Given the description of an element on the screen output the (x, y) to click on. 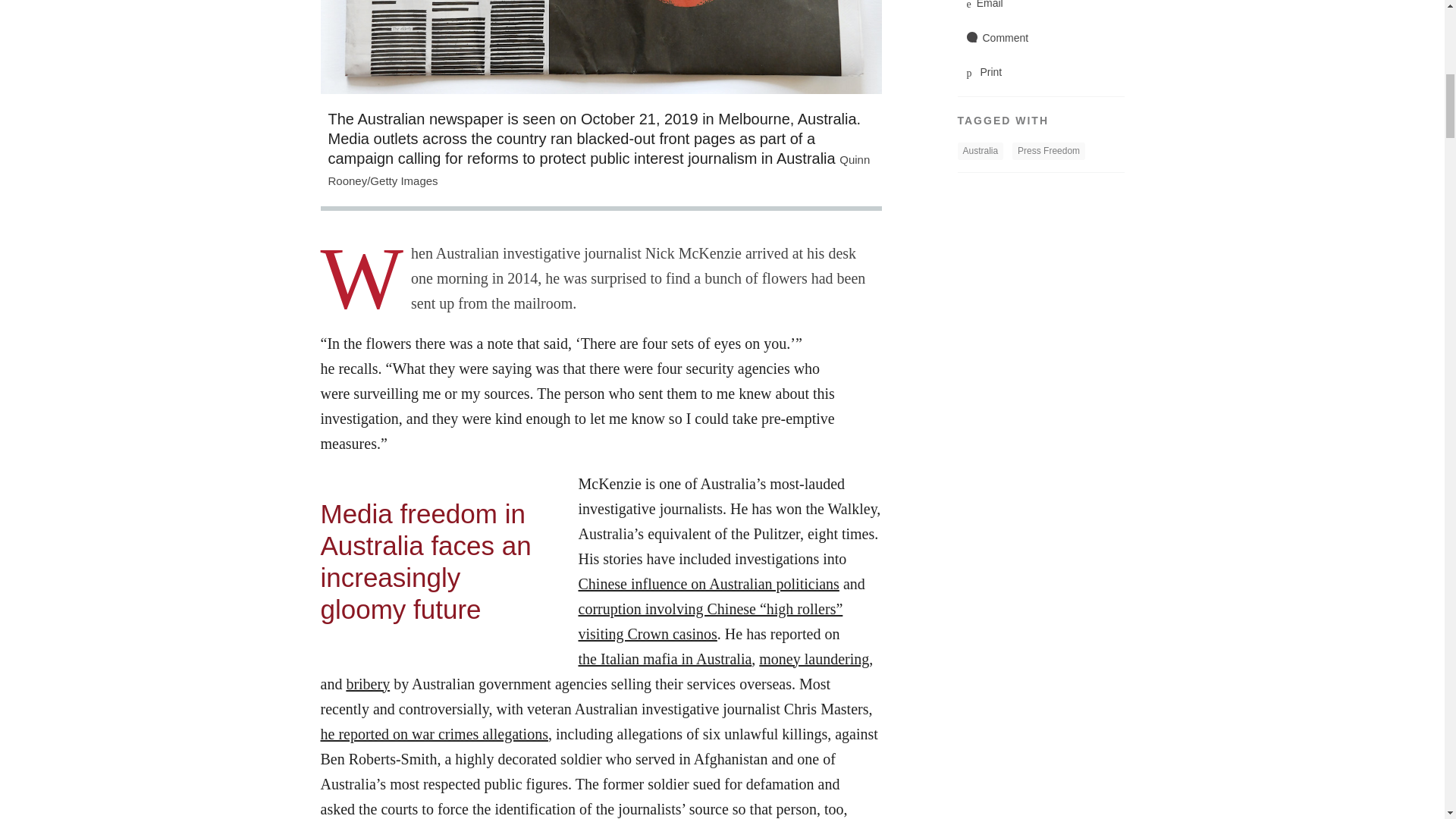
Email (1040, 10)
